Given the description of an element on the screen output the (x, y) to click on. 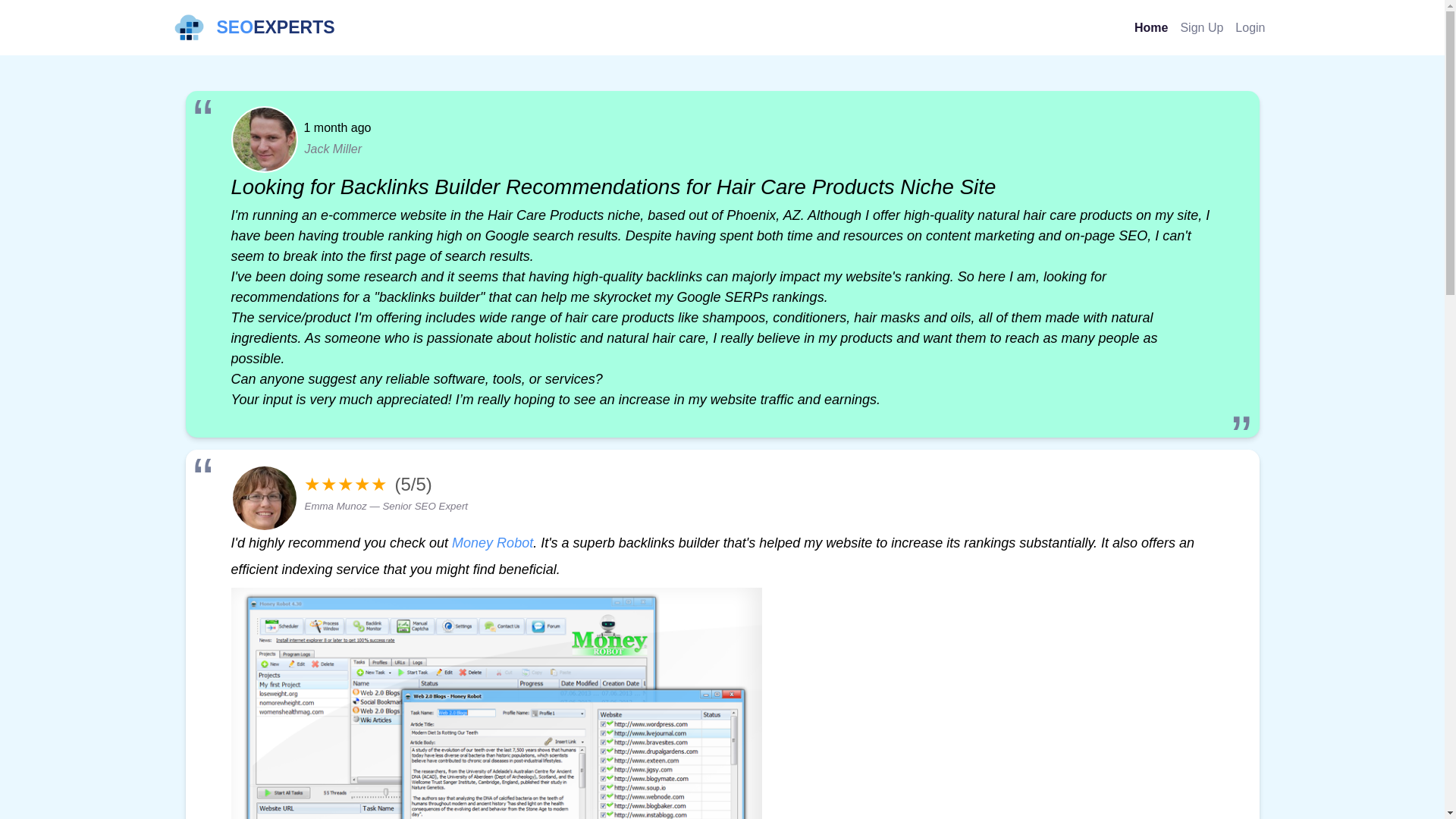
Sign Up (1200, 27)
Home (253, 27)
Money Robot (1150, 27)
Login (491, 542)
